Given the description of an element on the screen output the (x, y) to click on. 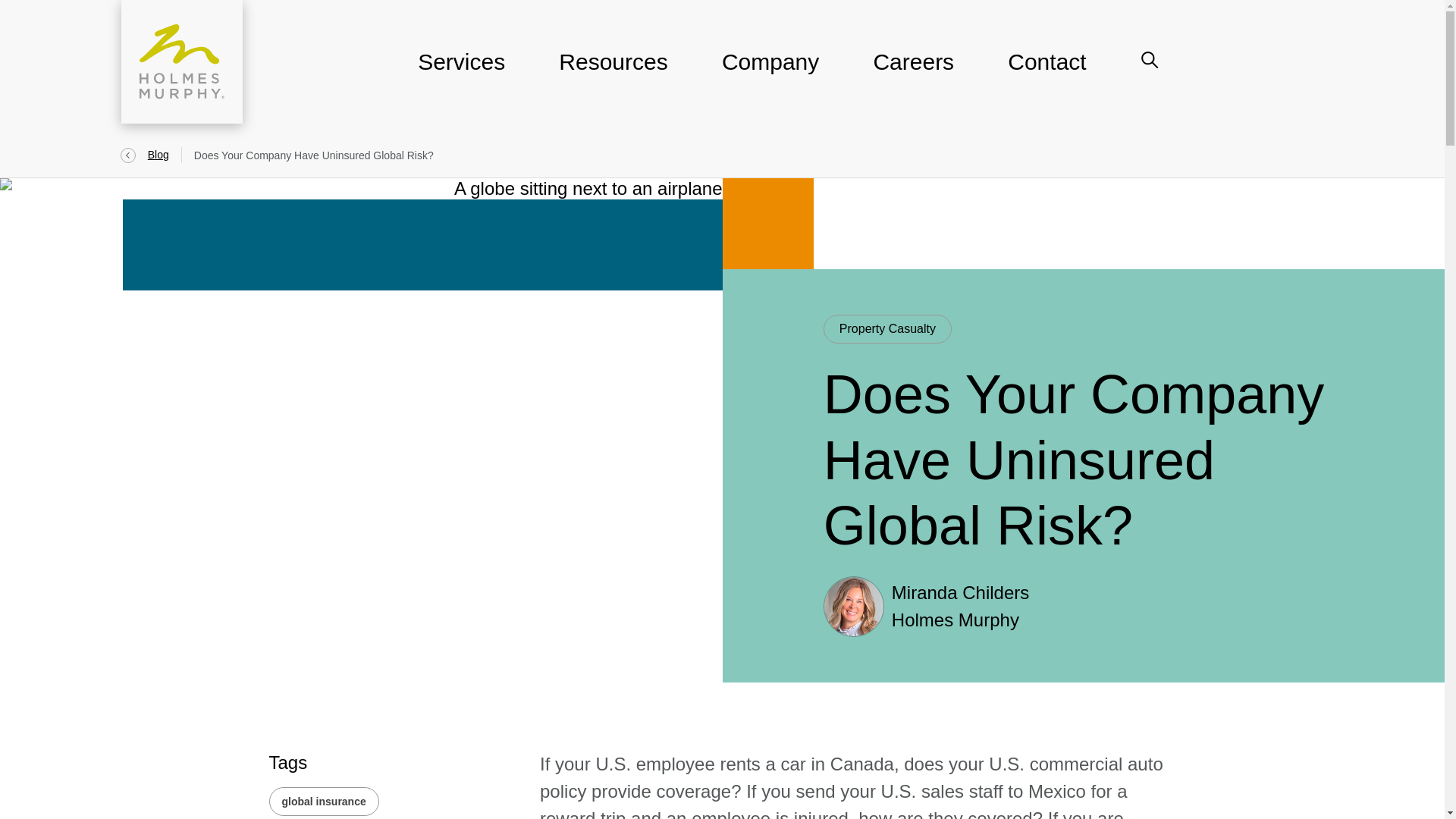
Services (461, 70)
Careers (912, 70)
Company (770, 70)
Resources (612, 70)
Contact (1046, 70)
